Given the description of an element on the screen output the (x, y) to click on. 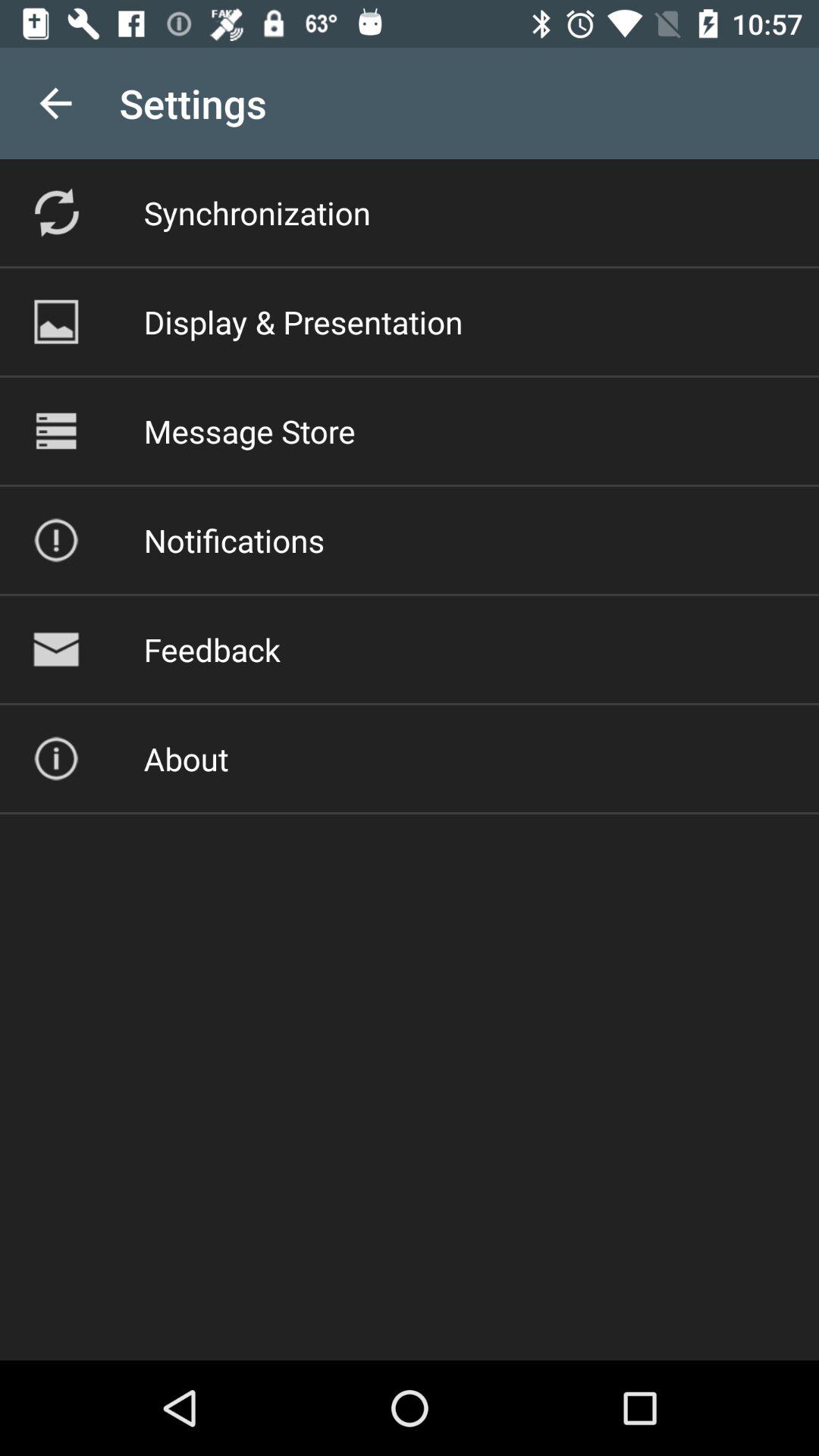
swipe until the synchronization (256, 212)
